Given the description of an element on the screen output the (x, y) to click on. 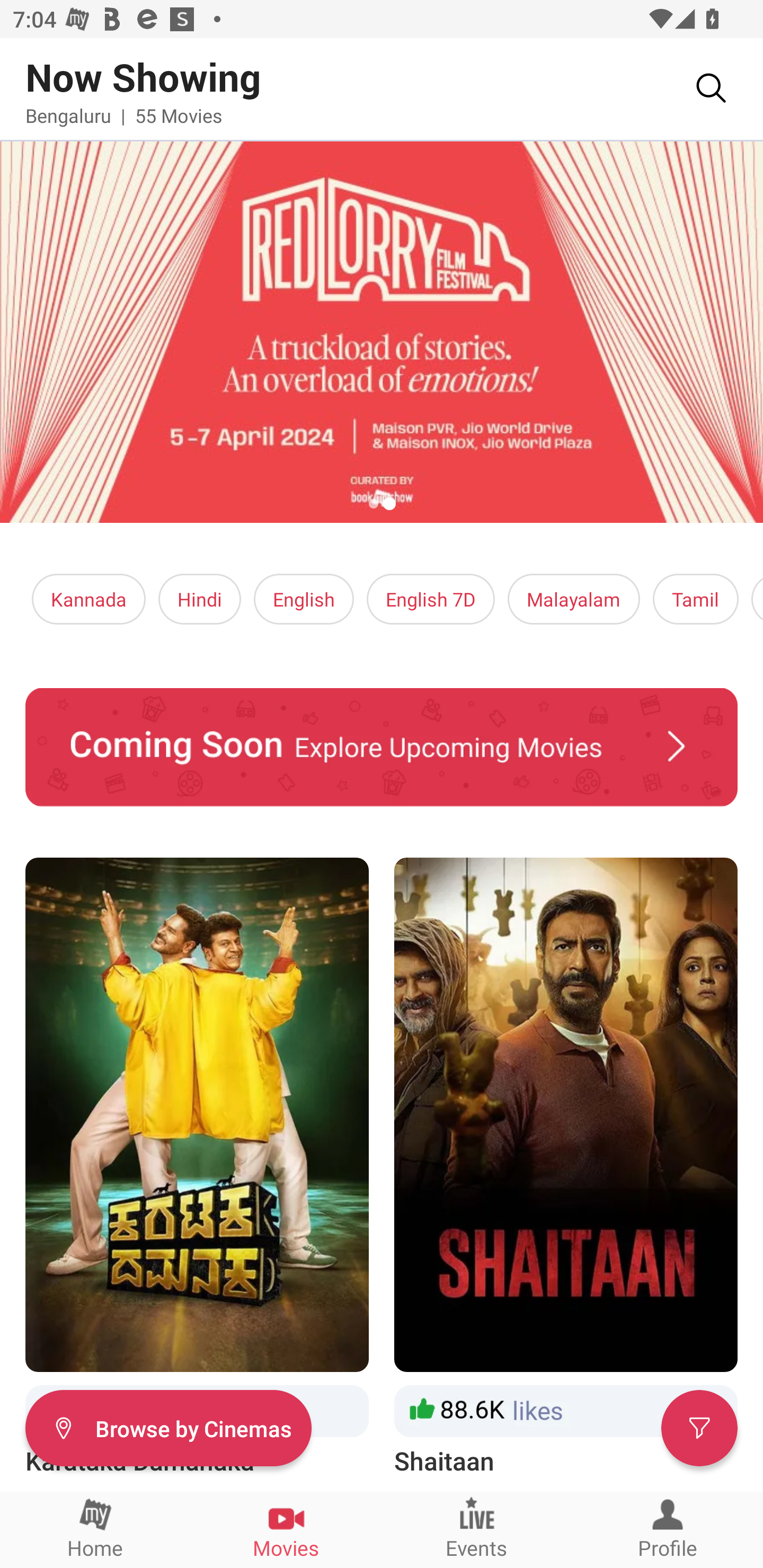
Bengaluru  |  55 Movies (123, 114)
Kannada (88, 598)
Hindi (199, 598)
English (304, 598)
English 7D (431, 598)
Malayalam (573, 598)
Tamil (695, 598)
Karataka Damanaka (196, 1167)
Shaitaan (565, 1167)
Filter Browse by Cinemas (168, 1427)
Filter (699, 1427)
Home (95, 1529)
Movies (285, 1529)
Events (476, 1529)
Profile (667, 1529)
